Given the description of an element on the screen output the (x, y) to click on. 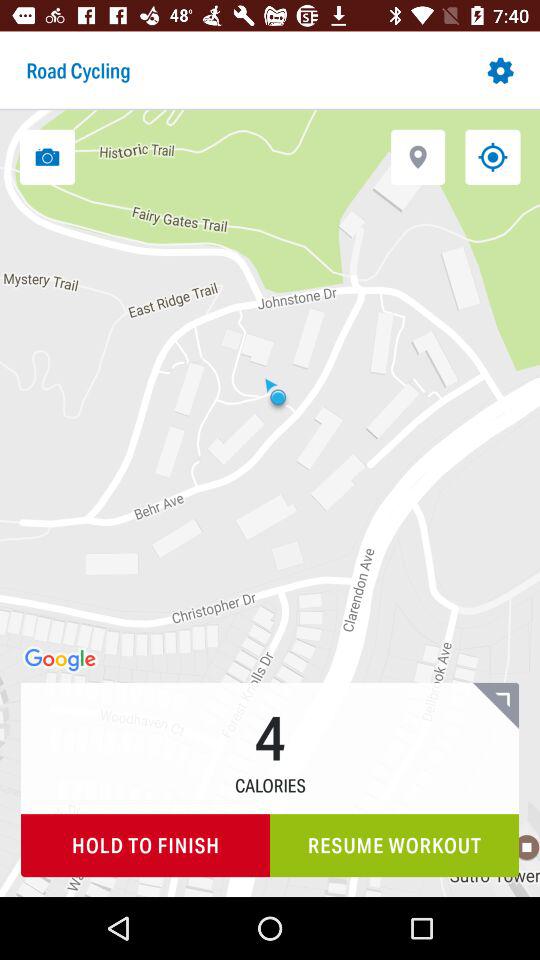
scroll until the resume workout (394, 845)
